Given the description of an element on the screen output the (x, y) to click on. 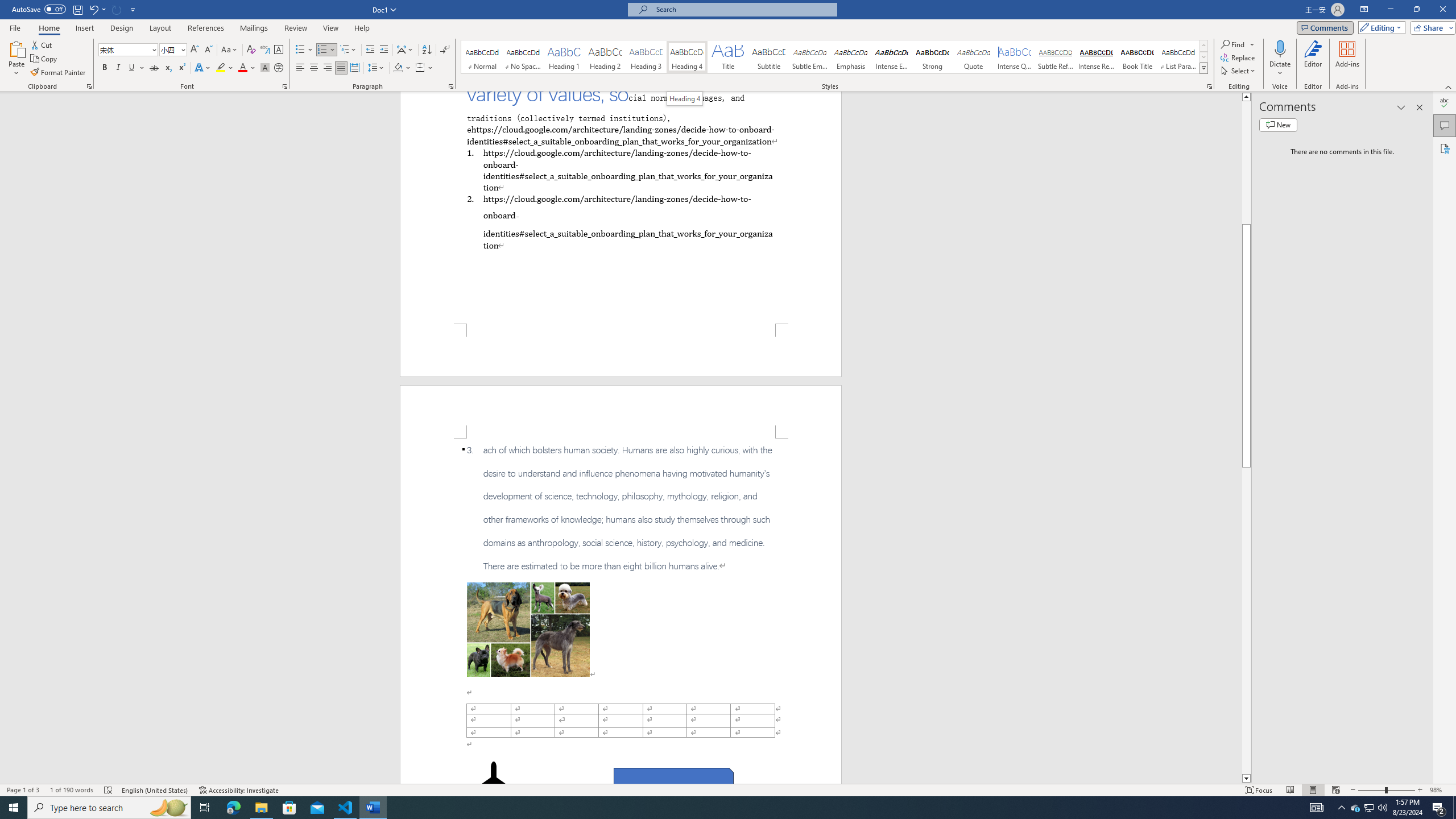
Zoom In (1420, 790)
Accessibility Checker Accessibility: Investigate (239, 790)
Book Title (1136, 56)
Heading 2 (605, 56)
Subtle Reference (1055, 56)
Morphological variation in six dogs (528, 629)
Paste (16, 48)
Styles (1203, 67)
AutoSave (38, 9)
Increase Indent (383, 49)
Footer -Section 1- (620, 349)
Shading RGB(0, 0, 0) (397, 67)
View (330, 28)
Close (1442, 9)
Phonetic Guide... (264, 49)
